Given the description of an element on the screen output the (x, y) to click on. 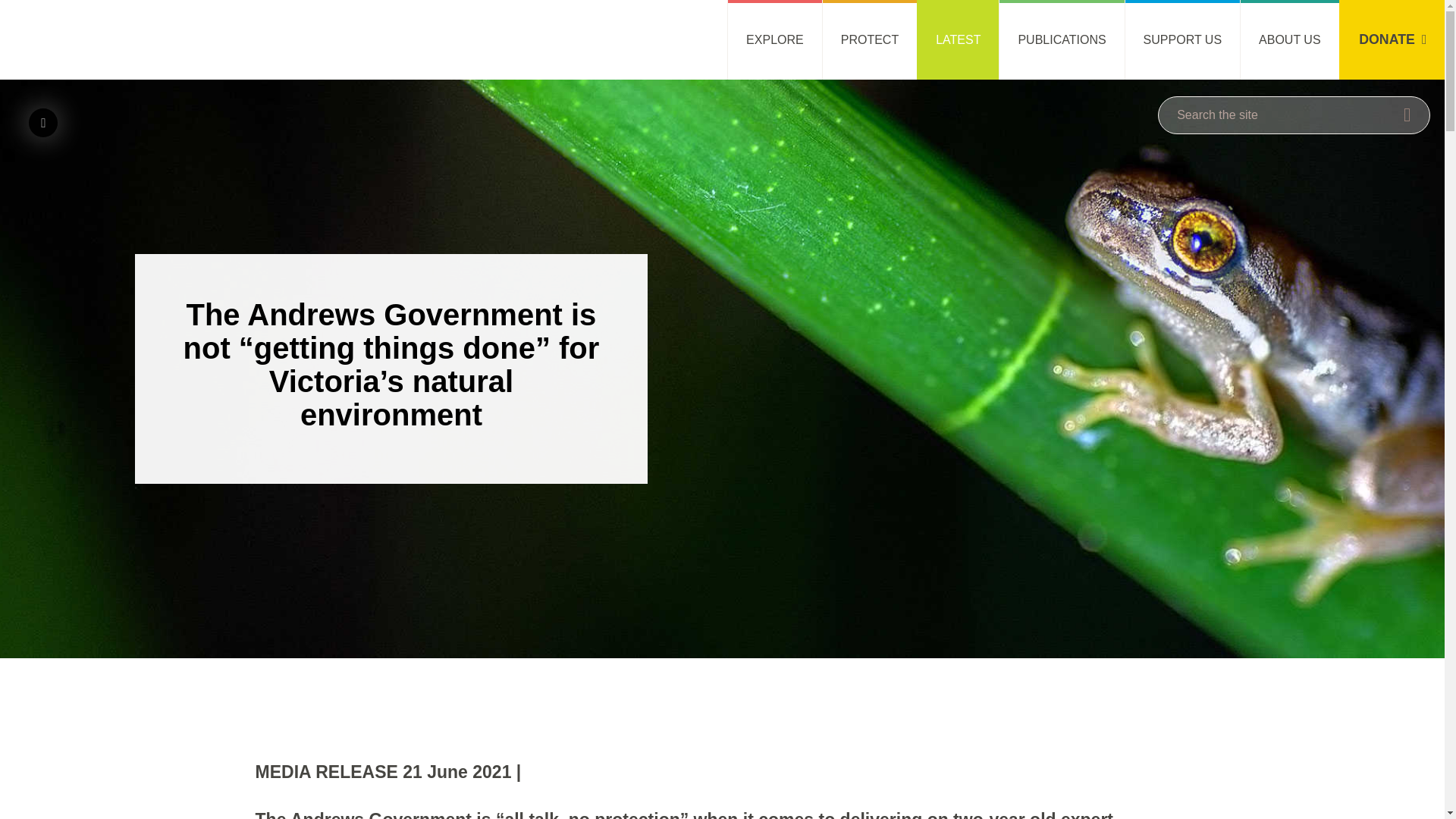
LATEST (957, 39)
PUBLICATIONS (1061, 39)
PROTECT (869, 39)
Search for: (1293, 114)
EXPLORE (774, 39)
